Given the description of an element on the screen output the (x, y) to click on. 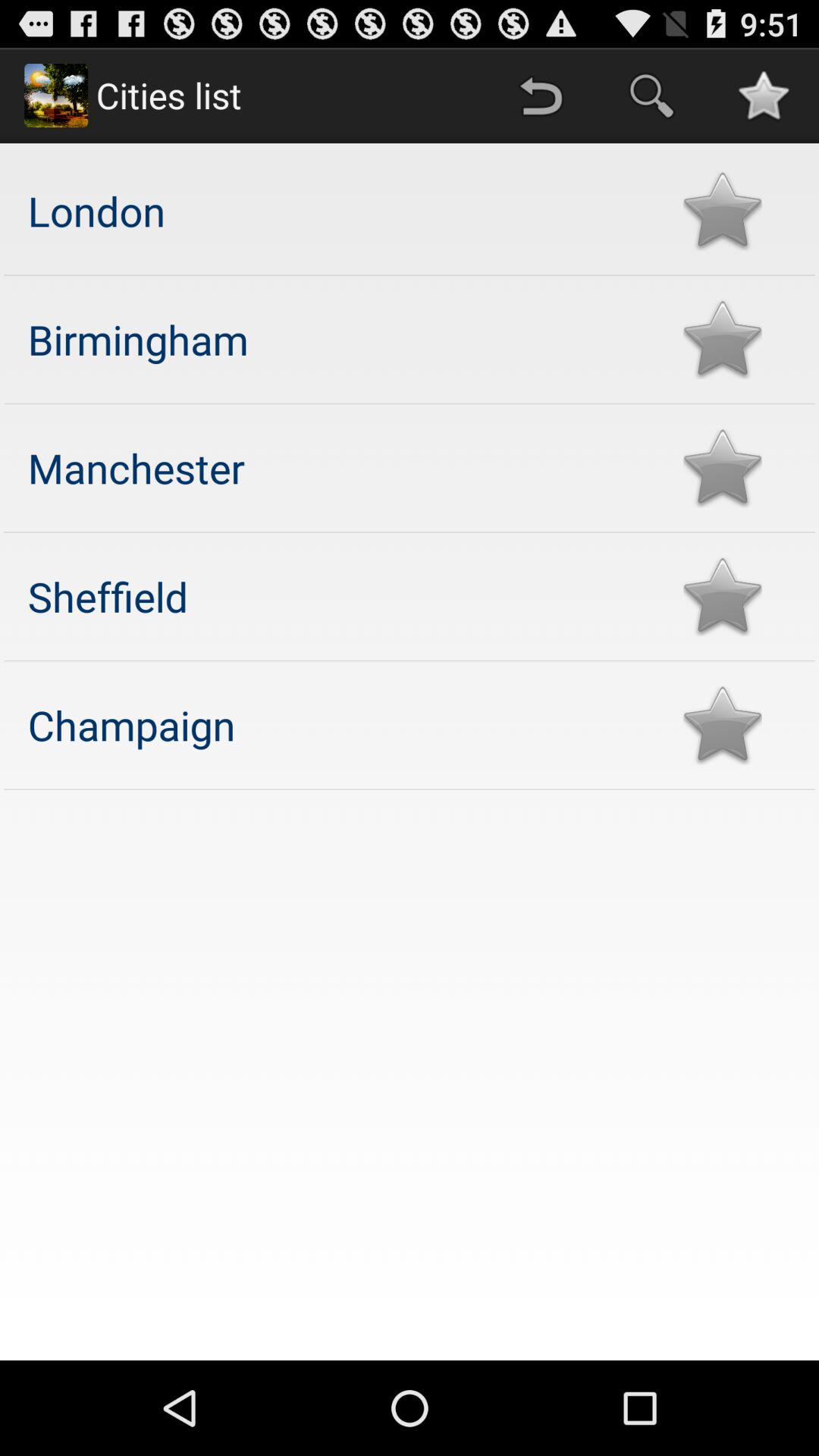
check list (722, 467)
